Given the description of an element on the screen output the (x, y) to click on. 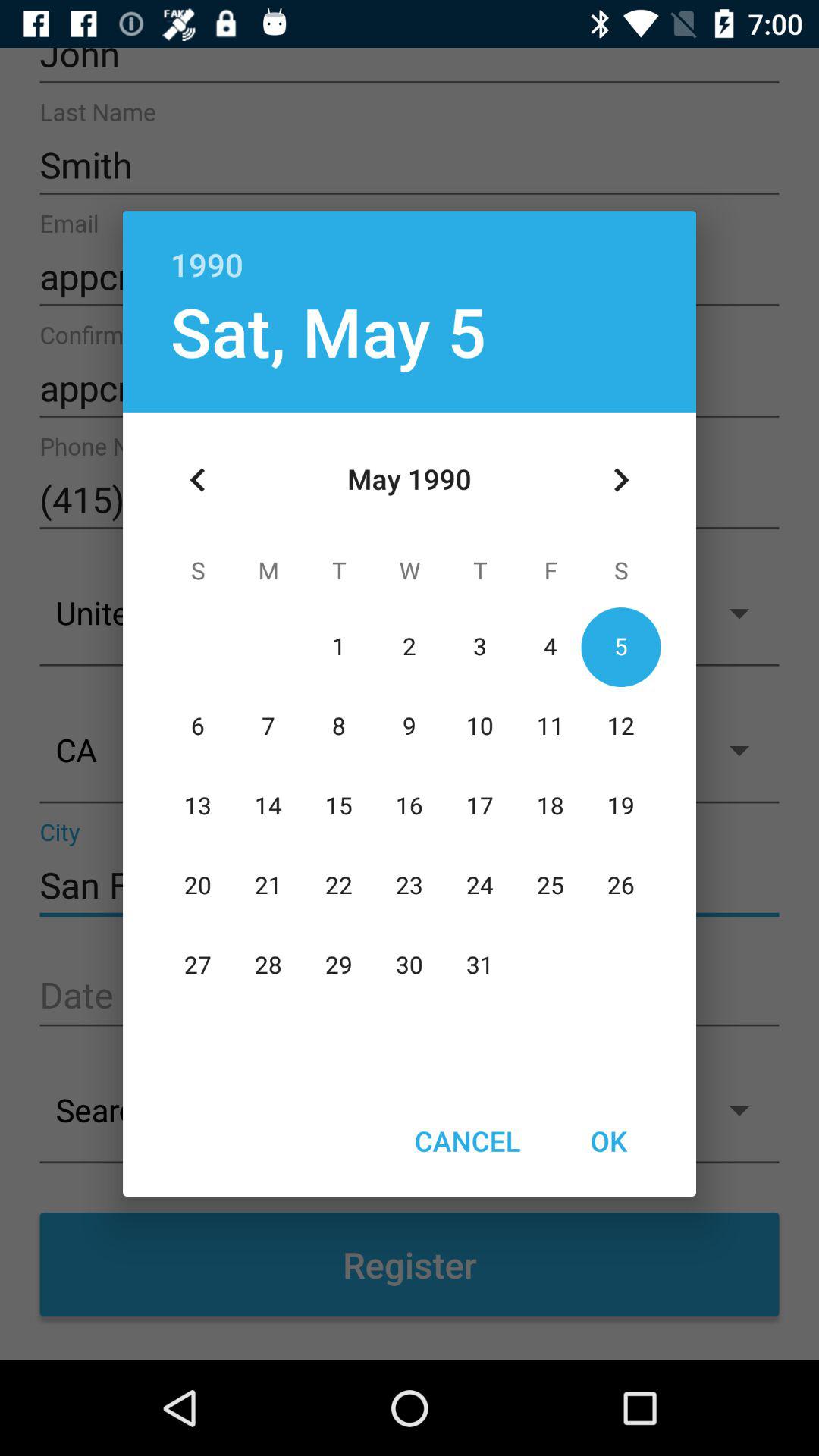
swipe until the cancel icon (467, 1140)
